Given the description of an element on the screen output the (x, y) to click on. 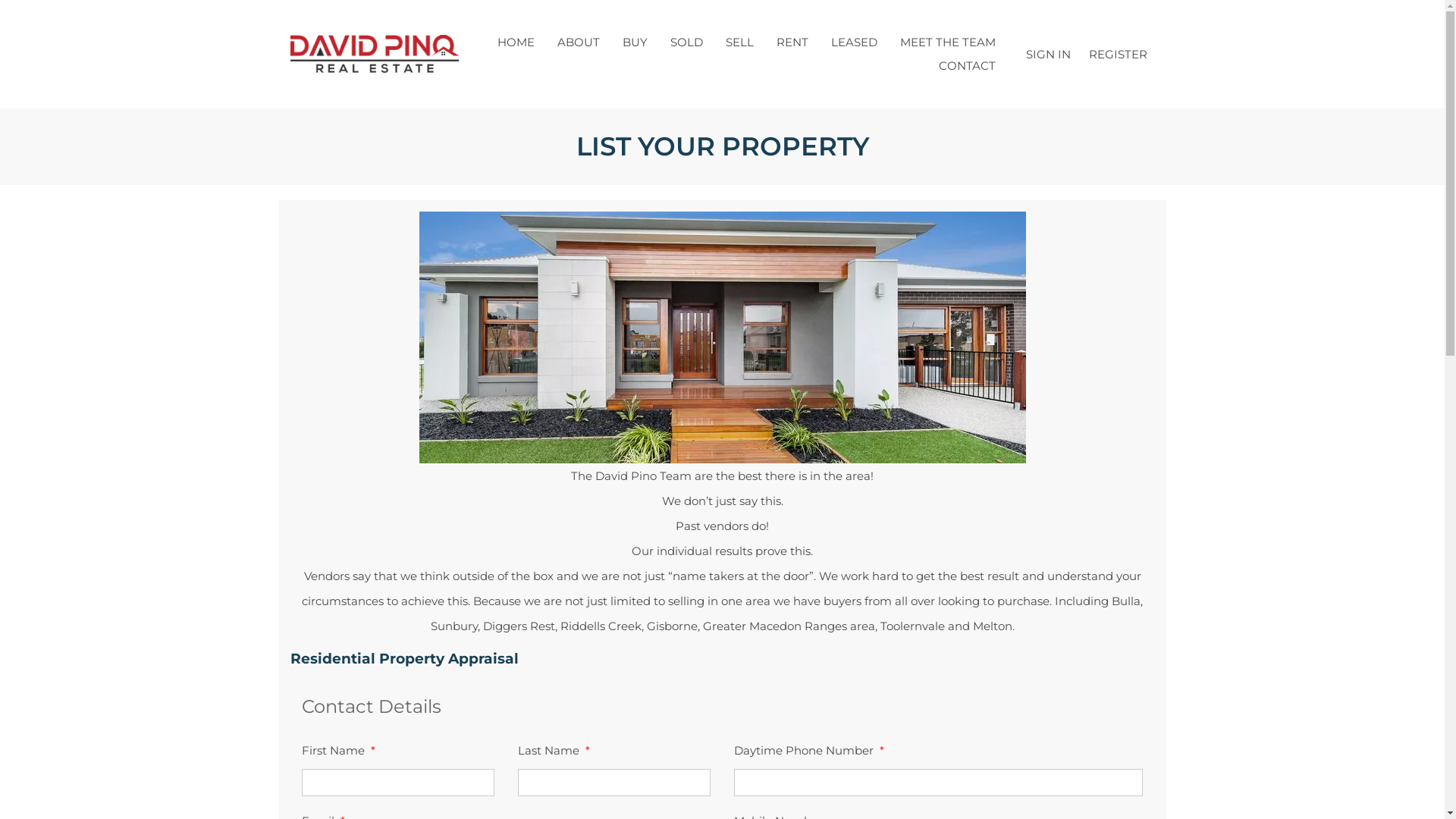
CONTACT Element type: text (966, 65)
SELL Element type: text (739, 41)
SIGN IN Element type: text (1047, 53)
RENT Element type: text (791, 41)
SOLD Element type: text (685, 41)
REGISTER Element type: text (1117, 53)
HOME Element type: text (515, 41)
ABOUT Element type: text (578, 41)
MEET THE TEAM Element type: text (947, 41)
BUY Element type: text (634, 41)
LEASED Element type: text (853, 41)
